Given the description of an element on the screen output the (x, y) to click on. 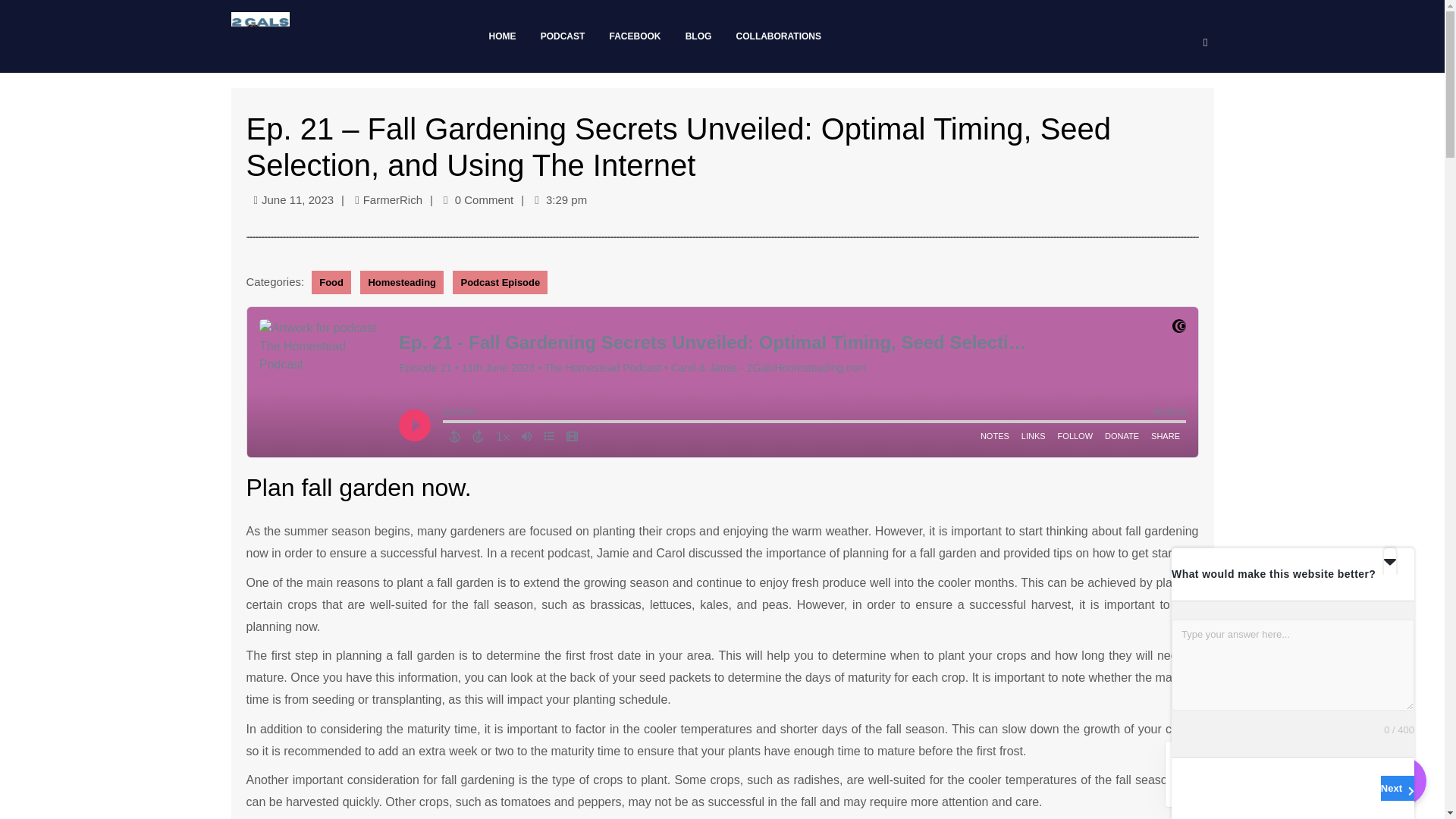
HOME (504, 36)
June 11, 2023 (297, 199)
BLOG (701, 36)
Homesteading (401, 282)
FACEBOOK (638, 36)
COLLABORATIONS (781, 36)
Podcast Episode (499, 282)
Food (330, 282)
PODCAST (565, 36)
FarmerRich (392, 199)
